Given the description of an element on the screen output the (x, y) to click on. 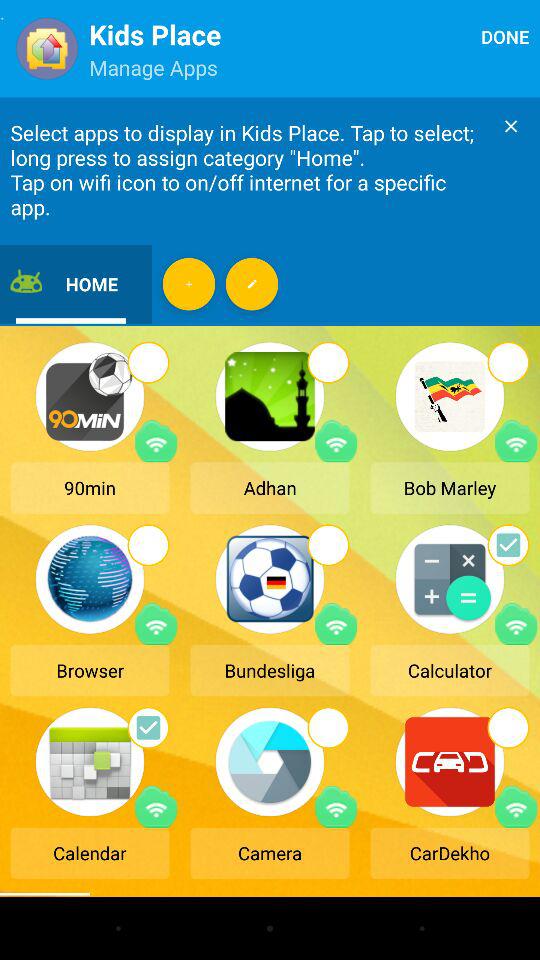
enable or disable wifi (336, 441)
